Given the description of an element on the screen output the (x, y) to click on. 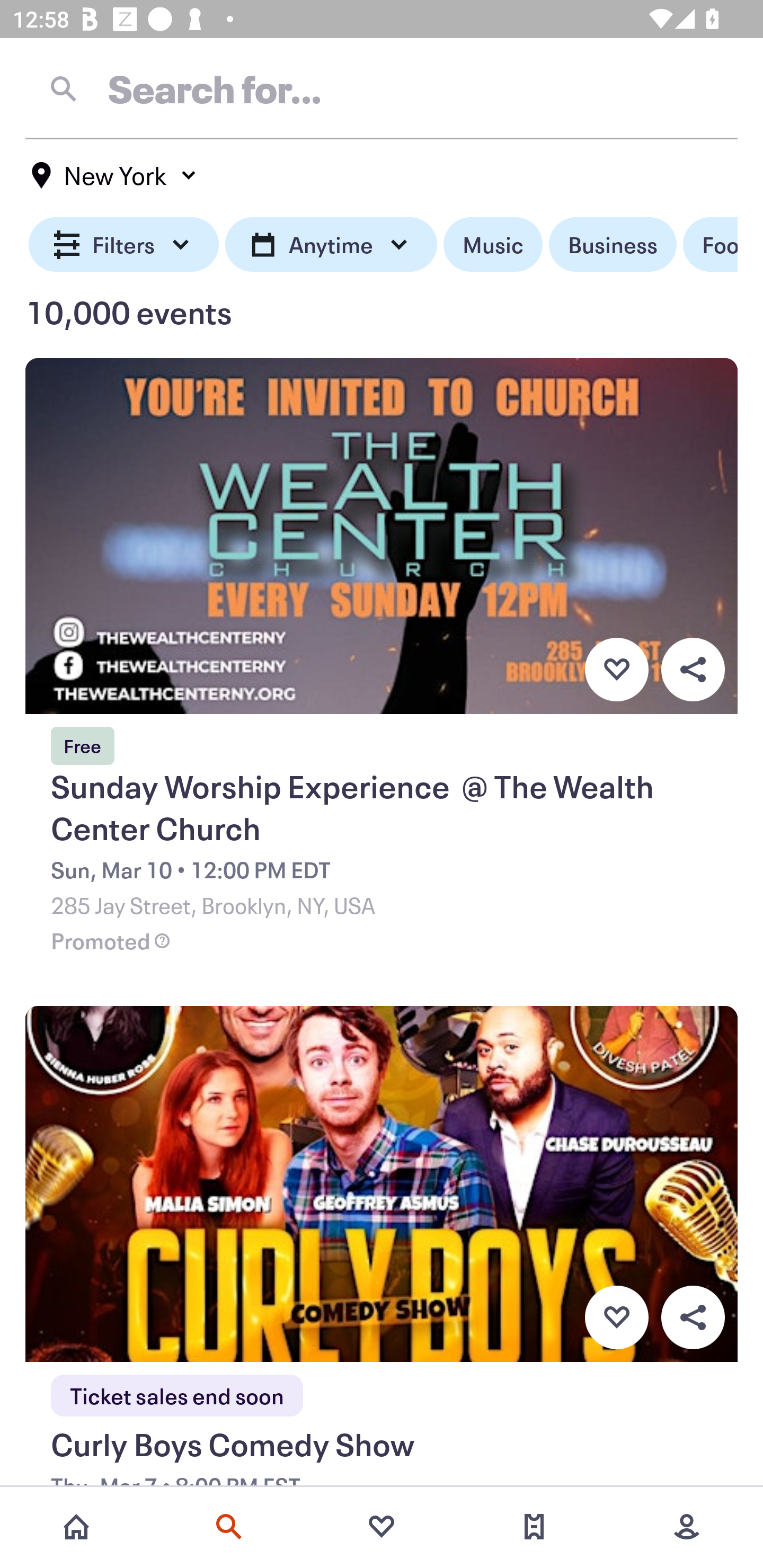
Search for… (381, 88)
New York (114, 175)
Filters (123, 244)
Anytime (331, 244)
Music (492, 244)
Business (612, 244)
Favorite button (616, 669)
Overflow menu button (692, 669)
Favorite button (616, 1317)
Overflow menu button (692, 1317)
Home (76, 1526)
Search events (228, 1526)
Favorites (381, 1526)
Tickets (533, 1526)
More (686, 1526)
